Given the description of an element on the screen output the (x, y) to click on. 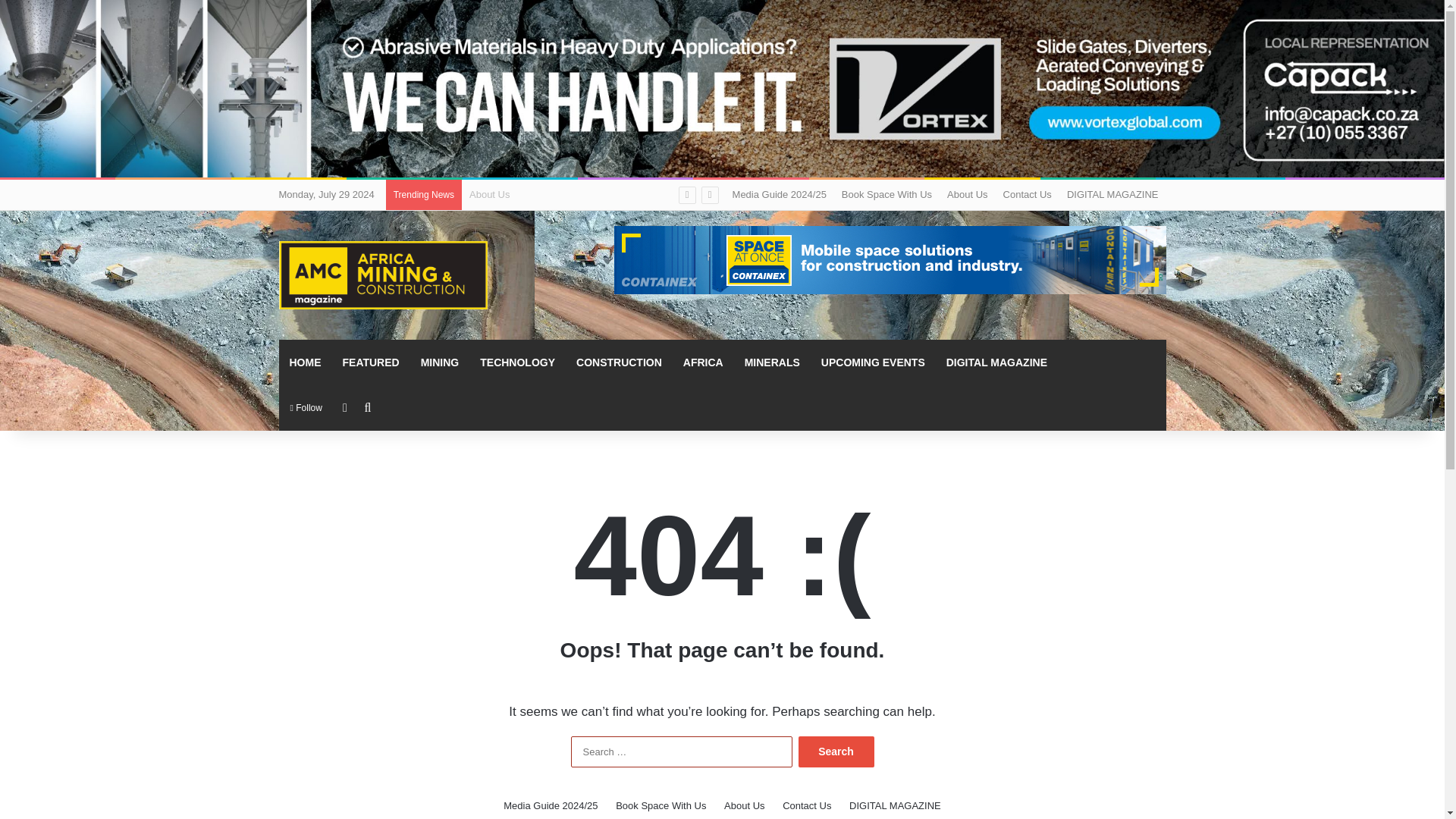
Search (835, 751)
Search (835, 751)
AFRICA (702, 361)
TECHNOLOGY (517, 361)
Book Space With Us (660, 805)
MINERALS (771, 361)
About Us (966, 194)
DIGITAL MAGAZINE (894, 805)
About Us (743, 805)
CONSTRUCTION (619, 361)
Book Space With Us (886, 194)
Contact Us (1027, 194)
MINING (440, 361)
DIGITAL MAGAZINE (997, 361)
UPCOMING EVENTS (873, 361)
